Given the description of an element on the screen output the (x, y) to click on. 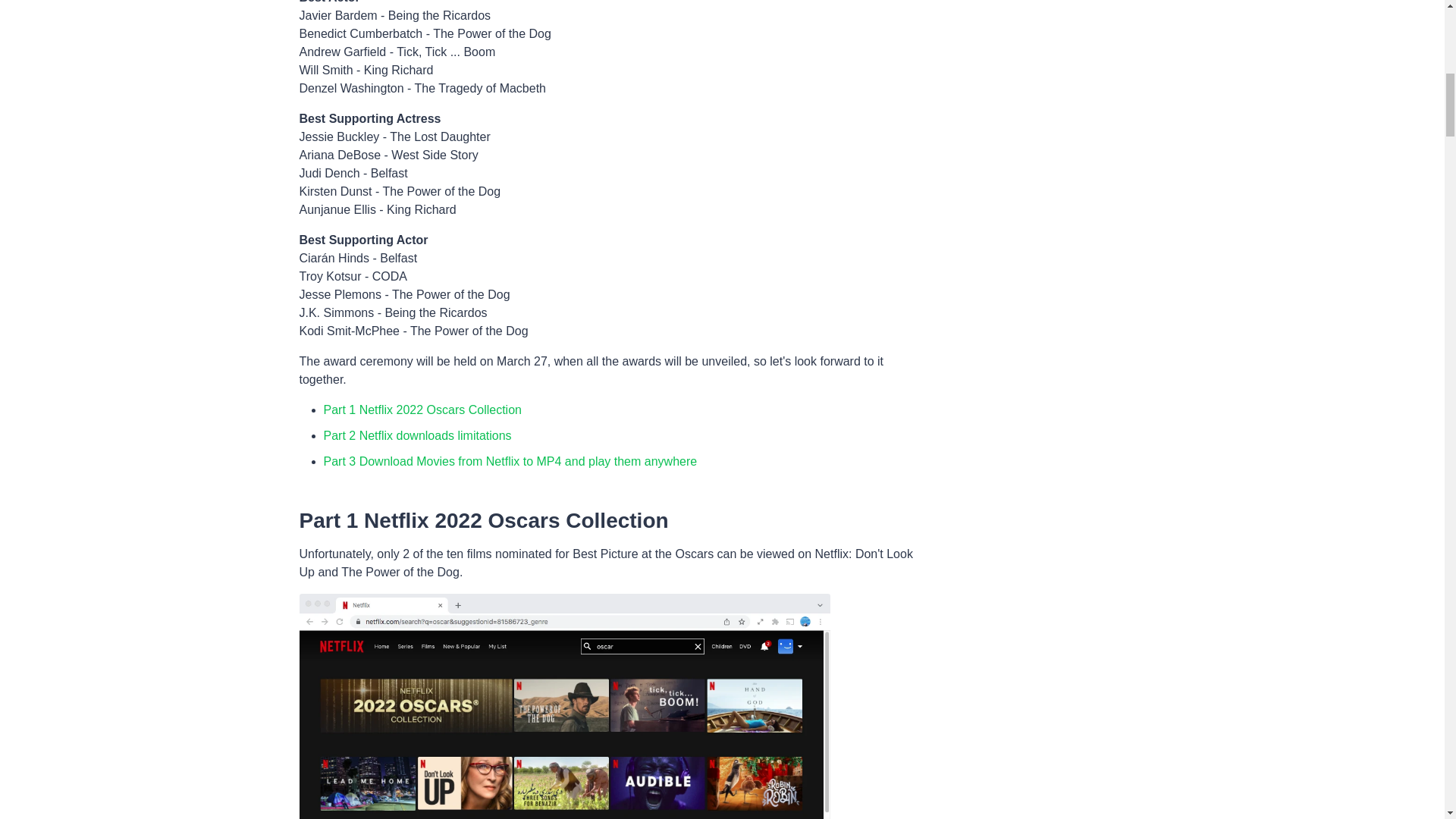
Part 1 Netflix 2022 Oscars Collection (422, 409)
Part 2 Netflix downloads limitations (417, 435)
